Given the description of an element on the screen output the (x, y) to click on. 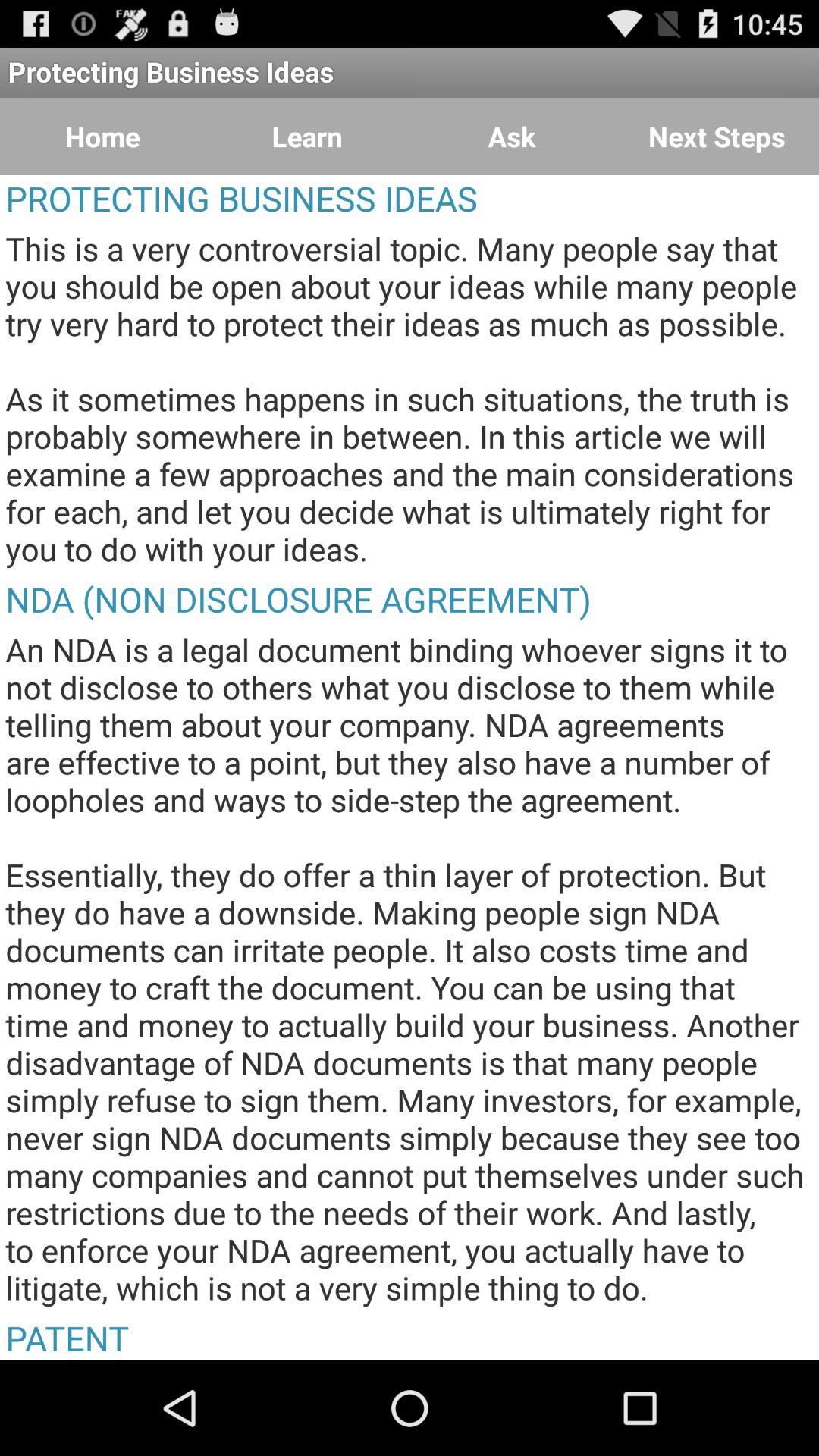
turn on the item next to the learn button (511, 136)
